Given the description of an element on the screen output the (x, y) to click on. 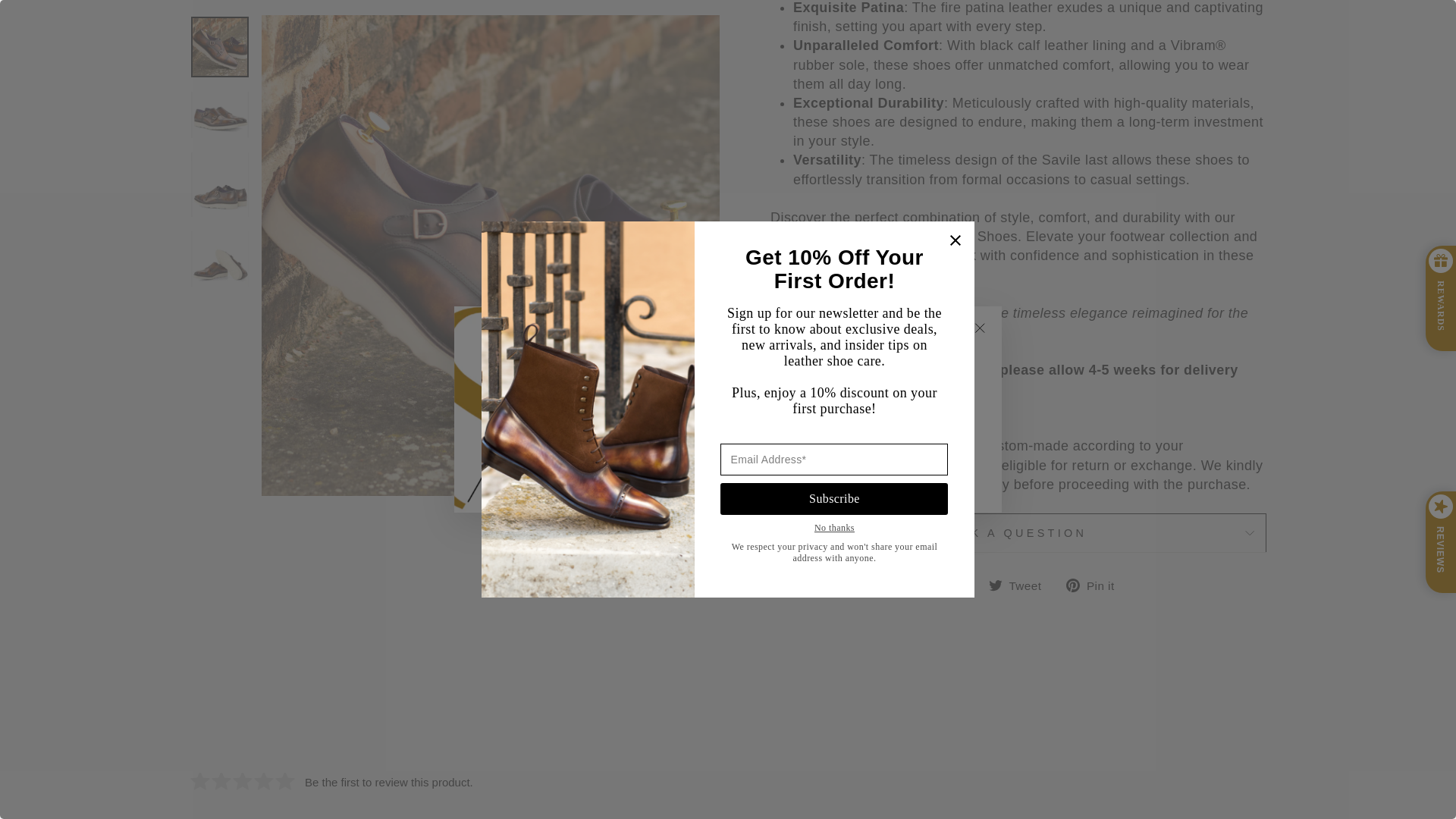
Tweet on Twitter (1020, 584)
twitter (995, 585)
